Given the description of an element on the screen output the (x, y) to click on. 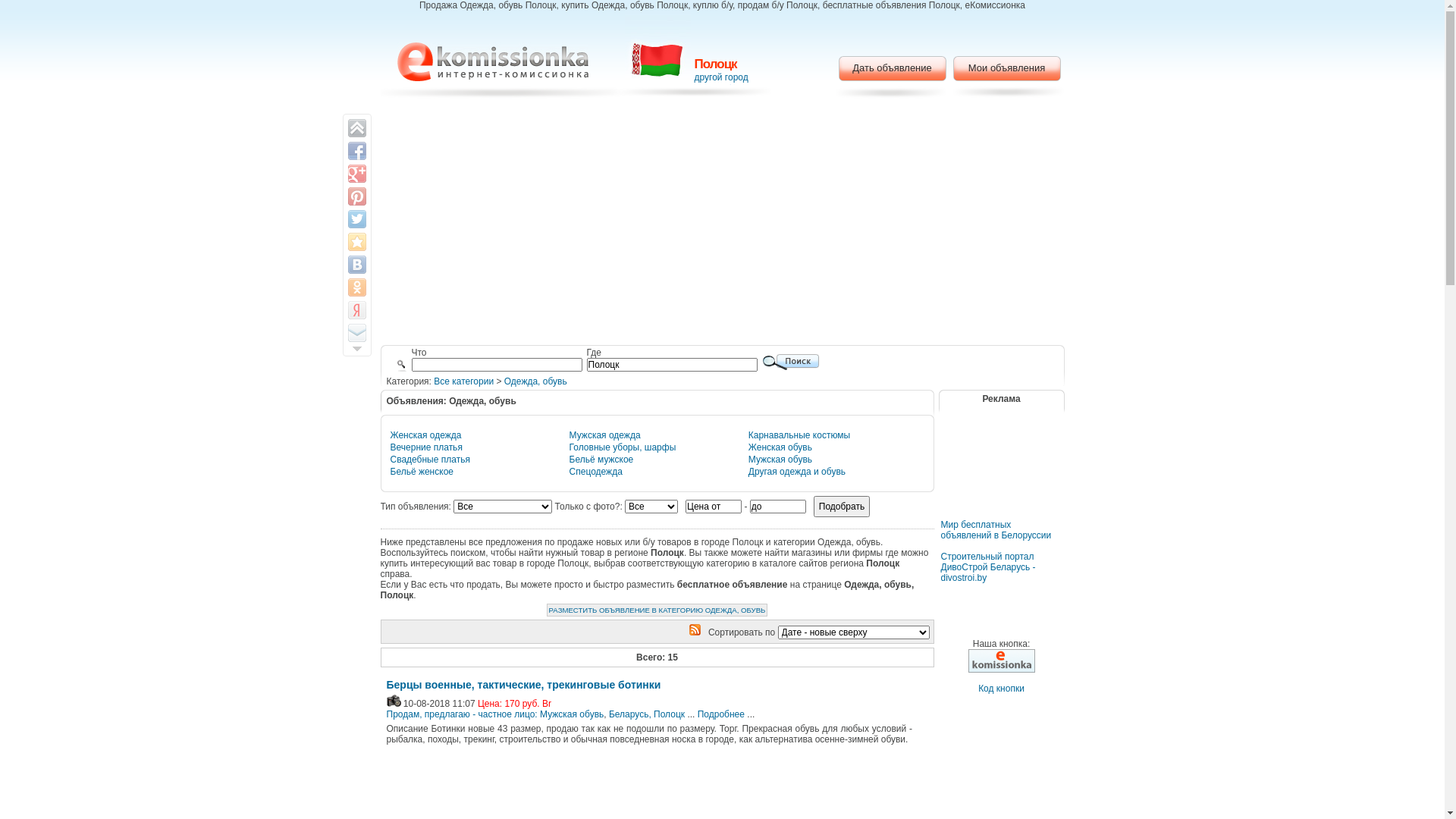
Pin It Element type: hover (356, 196)
Share on VK Element type: hover (356, 264)
Save to Browser Favorites Element type: hover (356, 241)
Advertisement Element type: hover (1000, 474)
Share to Odnoklassniki.ru Element type: hover (356, 287)
Share on Google+ Element type: hover (356, 173)
Share on Twitter Element type: hover (356, 219)
Save to Yandex Bookmarks Element type: hover (356, 310)
Share on Facebook Element type: hover (356, 150)
Back on top Element type: hover (356, 128)
Advertisement Element type: hover (722, 223)
Email this to a friend Element type: hover (356, 332)
